Given the description of an element on the screen output the (x, y) to click on. 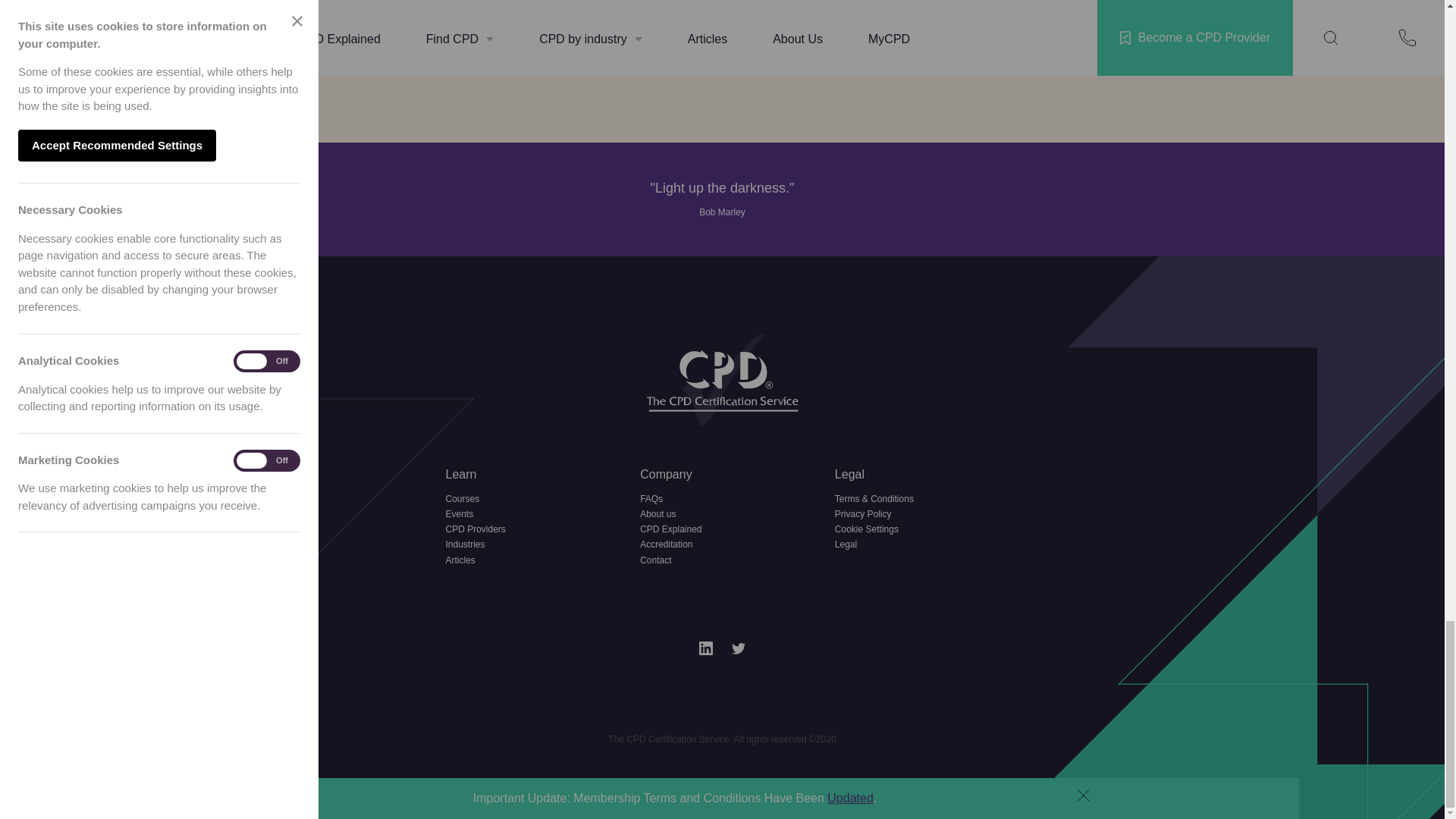
privacy policy (852, 56)
Courses (527, 500)
